Given the description of an element on the screen output the (x, y) to click on. 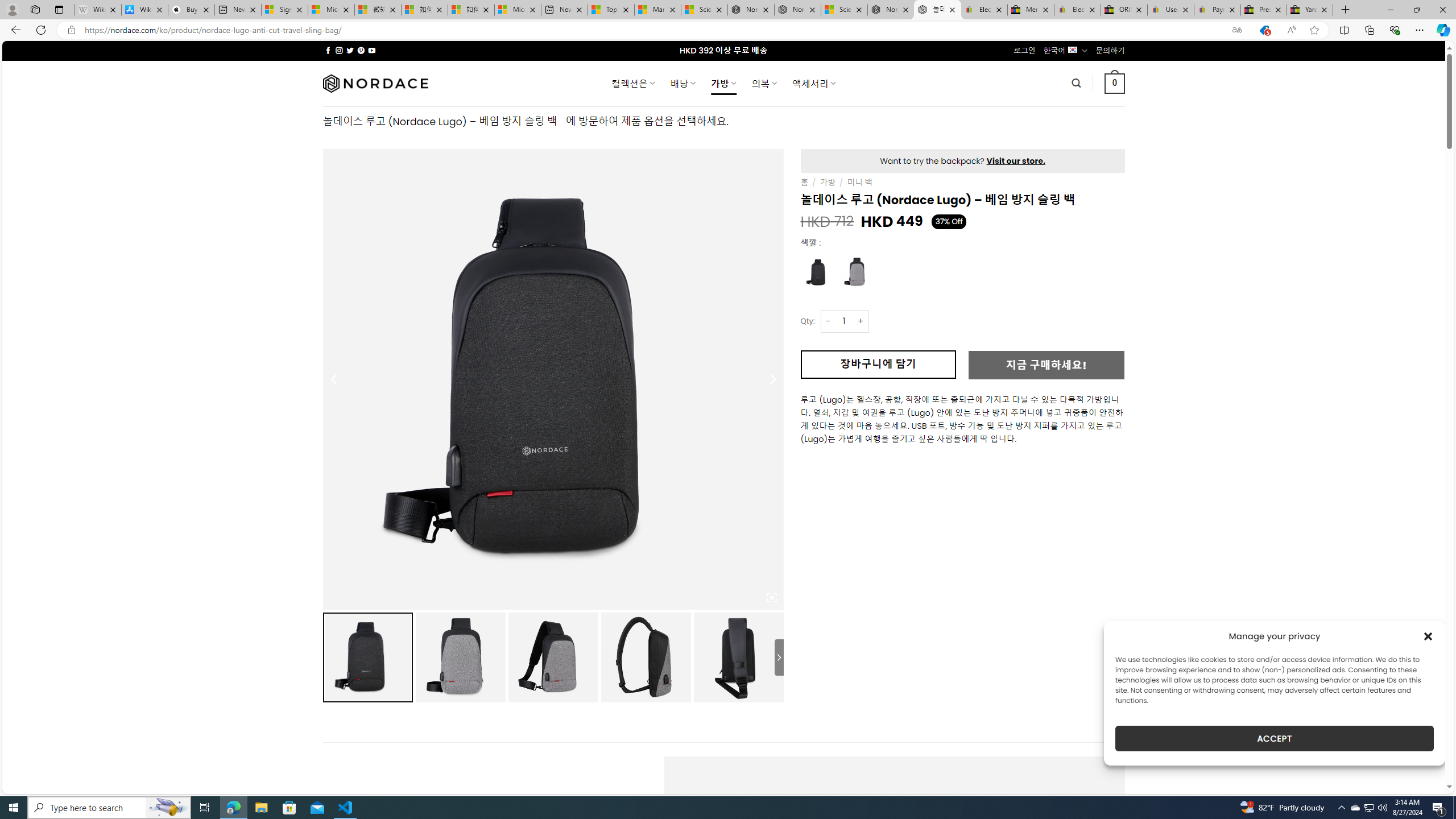
Buy iPad - Apple (191, 9)
Nordace (374, 83)
You have the best price! (1263, 29)
+ (861, 320)
Visit our store. (1015, 161)
